Given the description of an element on the screen output the (x, y) to click on. 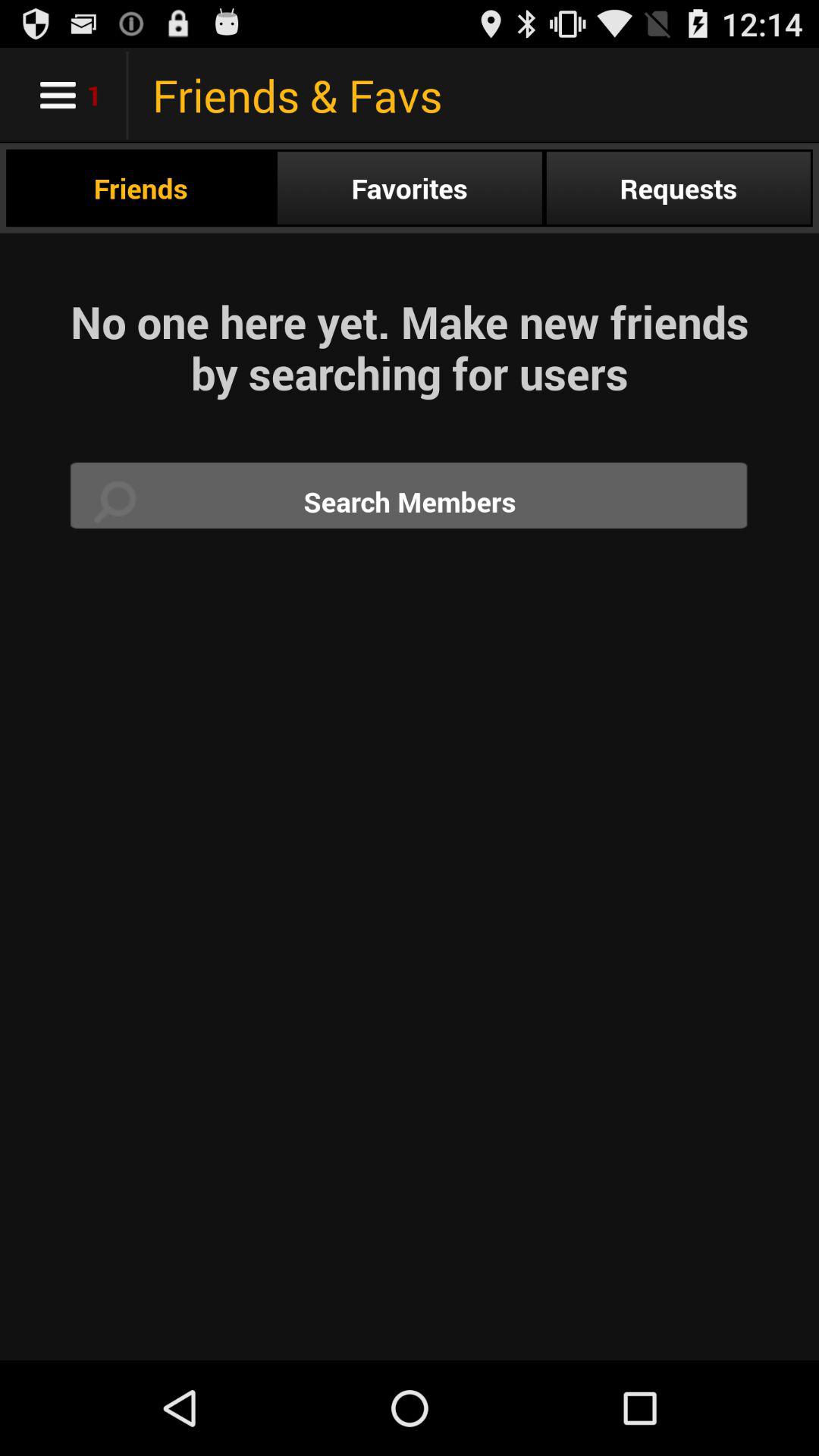
click the app below friends & favs icon (409, 187)
